Given the description of an element on the screen output the (x, y) to click on. 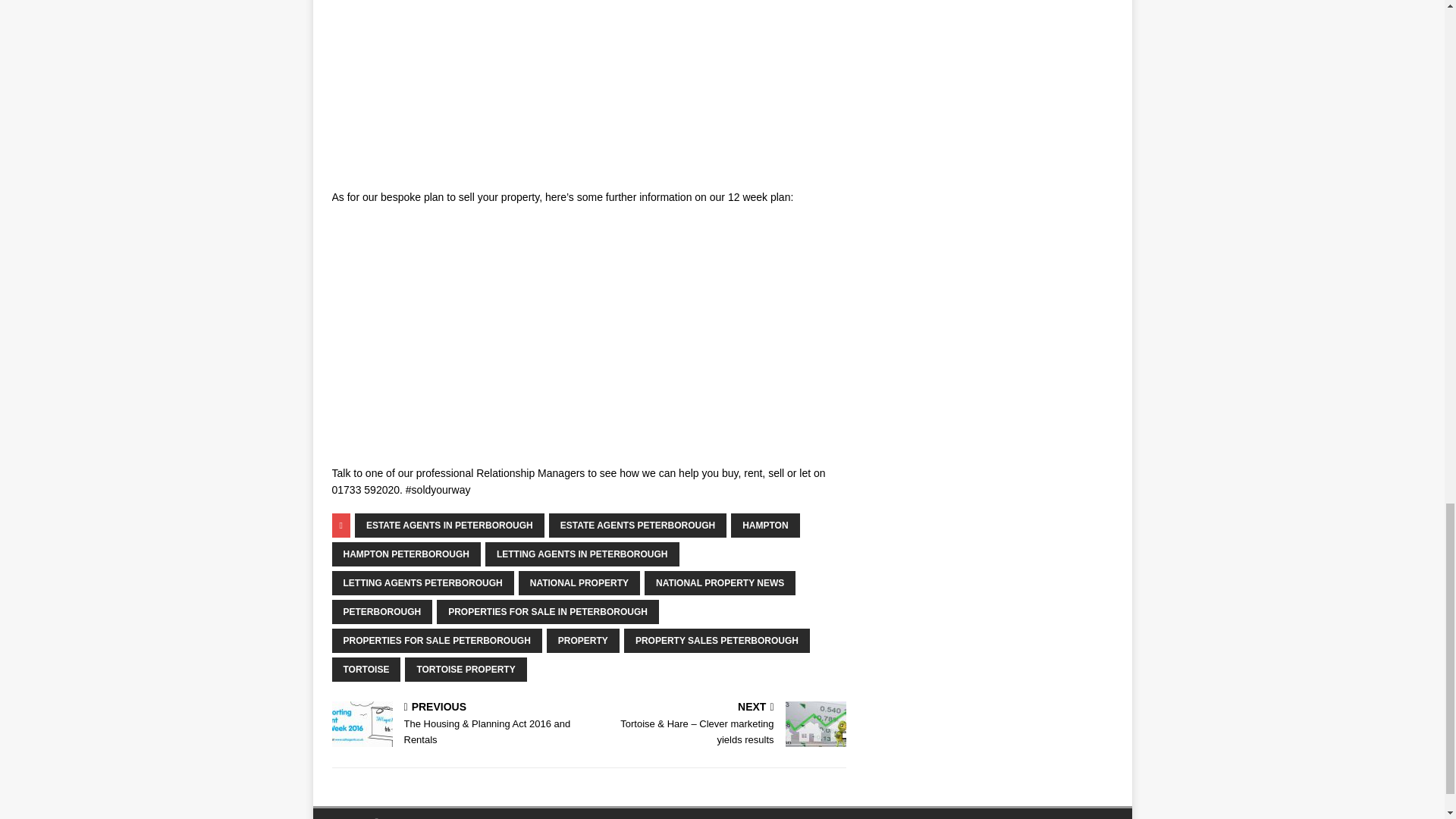
ESTATE AGENTS IN PETERBOROUGH (449, 525)
